Given the description of an element on the screen output the (x, y) to click on. 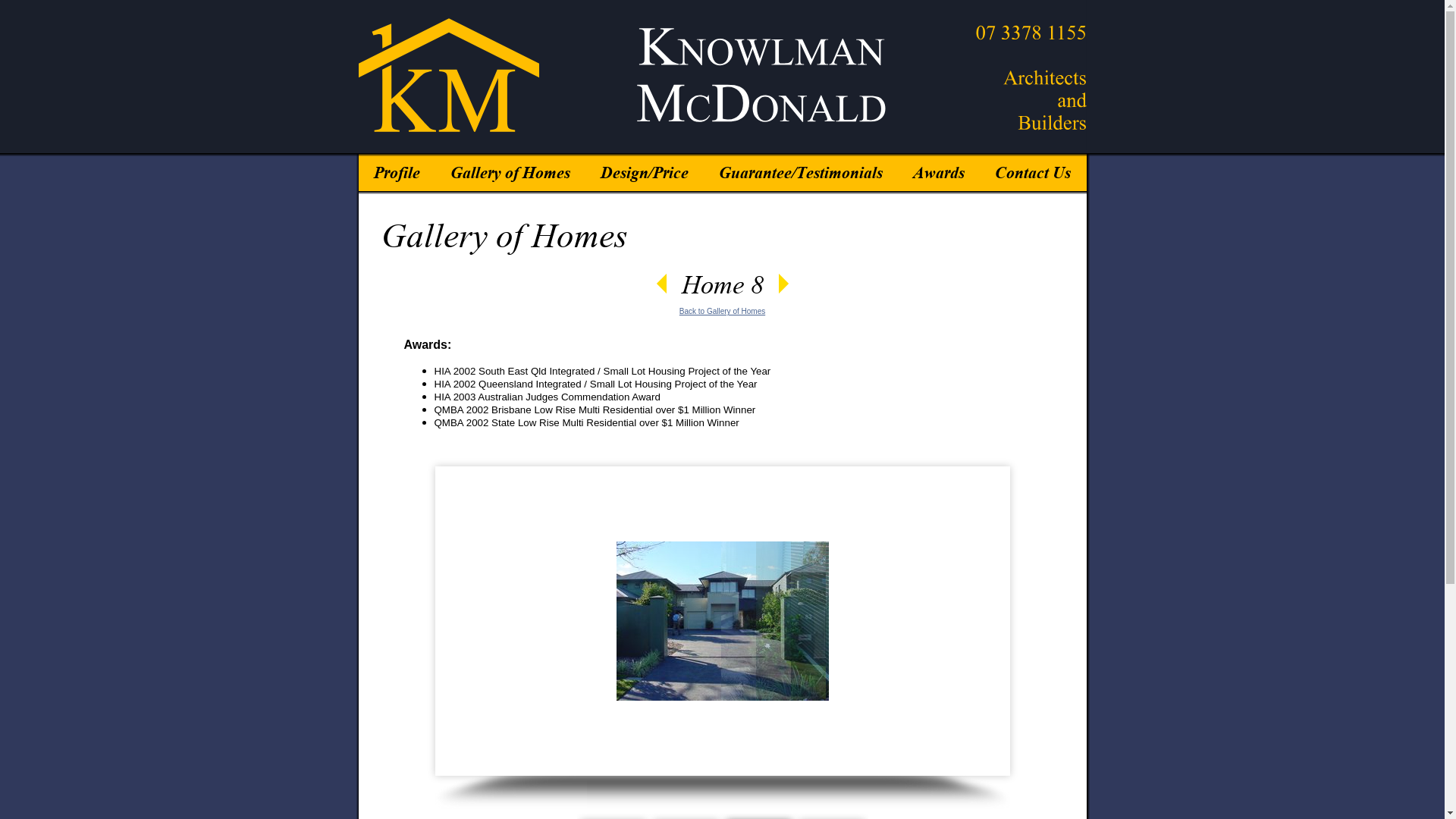
Gallery of Homes Element type: text (510, 167)
Guarantee/Testimonials Element type: text (800, 167)
Profile Element type: text (396, 167)
Awards Element type: text (938, 167)
Back to Gallery of Homes Element type: text (722, 311)
Design/Price Element type: text (644, 167)
Contact Us Element type: text (1032, 167)
